Given the description of an element on the screen output the (x, y) to click on. 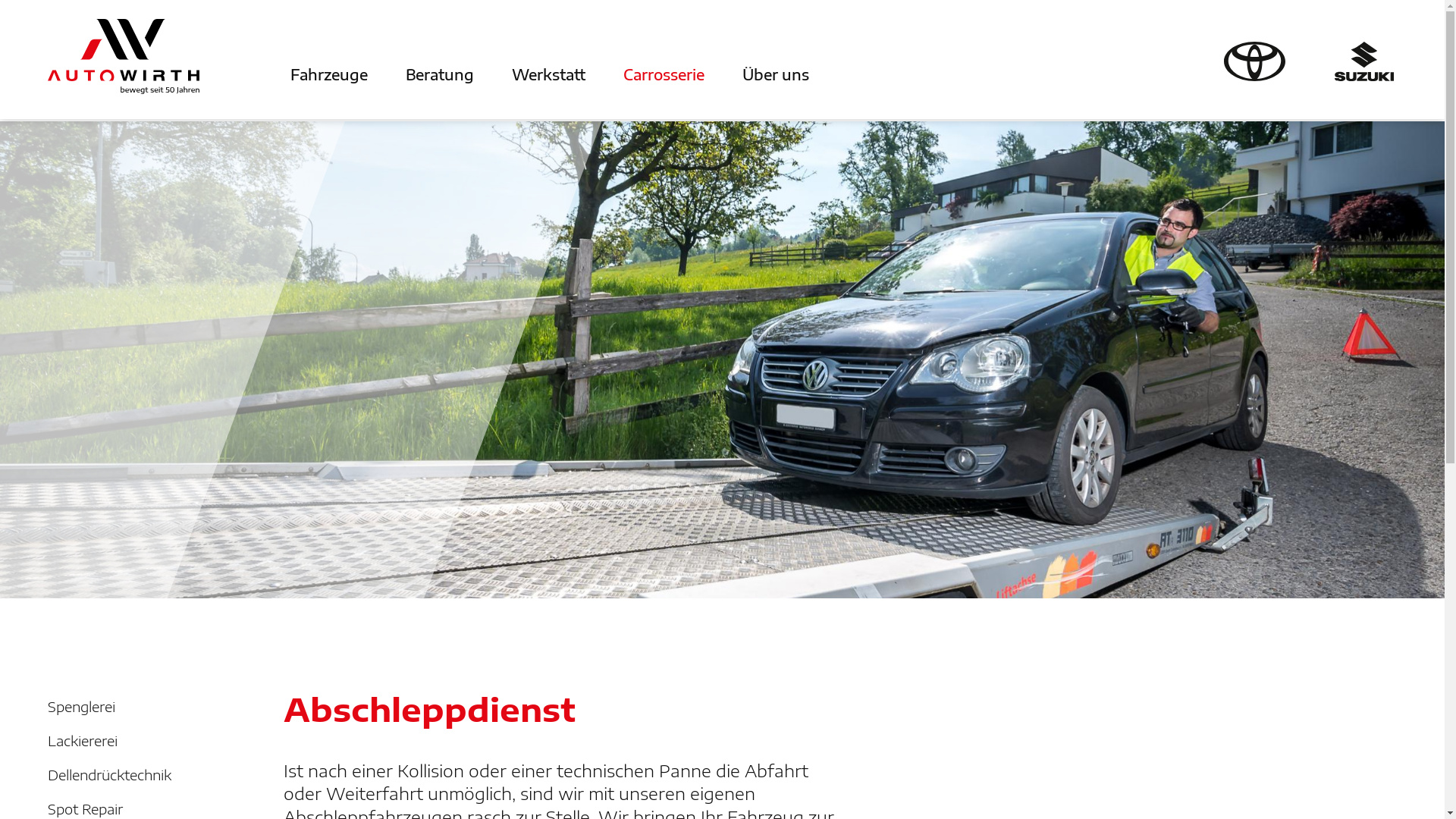
Lackiererei Element type: text (145, 740)
Carrosserie Element type: text (682, 74)
Beratung Element type: text (458, 74)
Spenglerei Element type: text (145, 706)
Werkstatt Element type: text (567, 74)
Fahrzeuge Element type: text (347, 74)
